Given the description of an element on the screen output the (x, y) to click on. 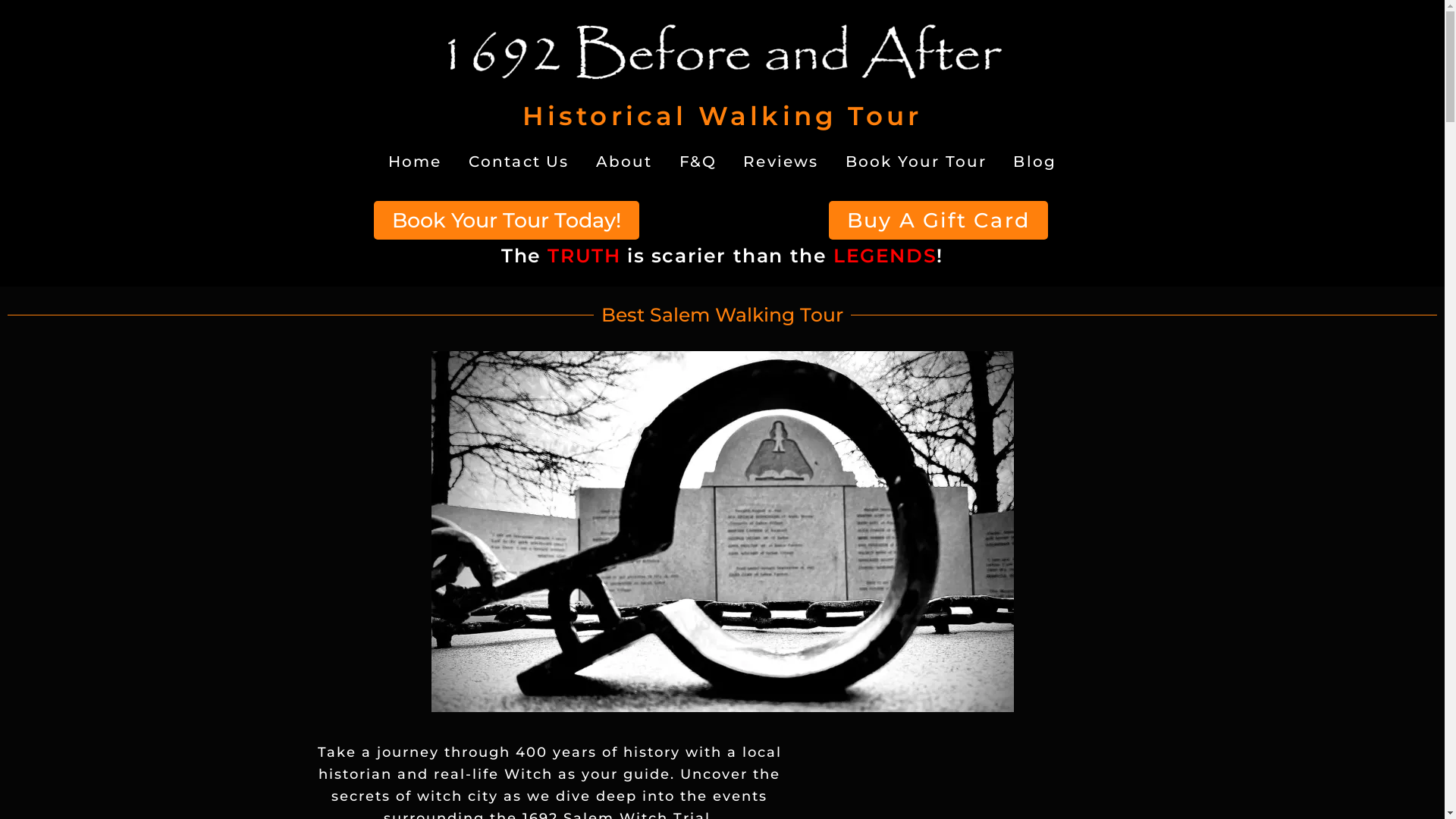
Buy A Gift Card Element type: text (938, 219)
Book Your Tour Element type: text (916, 161)
Home Element type: text (415, 161)
Reviews Element type: text (780, 161)
Contact Us Element type: text (518, 161)
Book Your Tour Today! Element type: text (505, 219)
Blog Element type: text (1034, 161)
F&Q Element type: text (698, 161)
About Element type: text (624, 161)
